Given the description of an element on the screen output the (x, y) to click on. 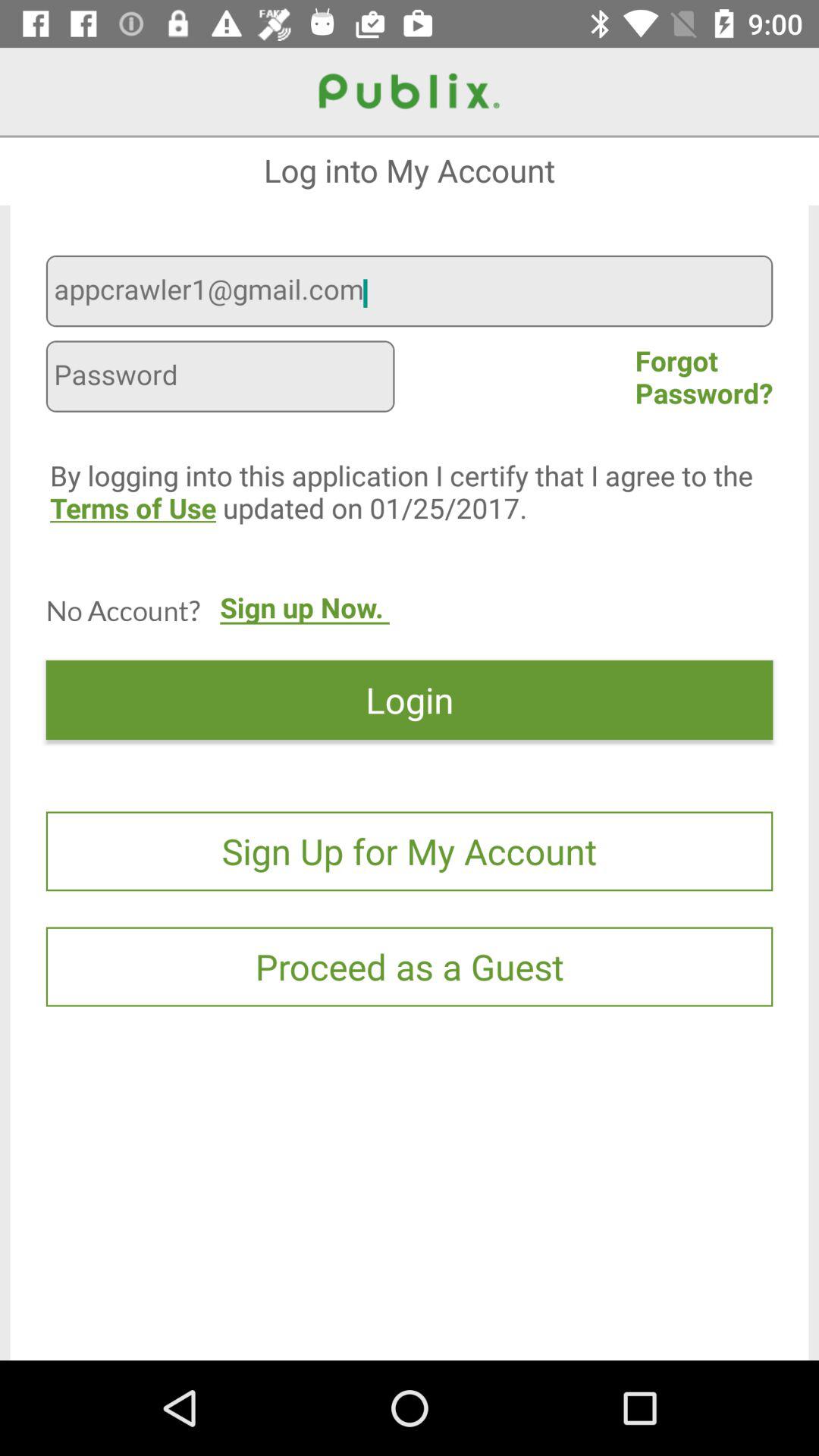
tap the icon to the right of no account? icon (304, 623)
